Given the description of an element on the screen output the (x, y) to click on. 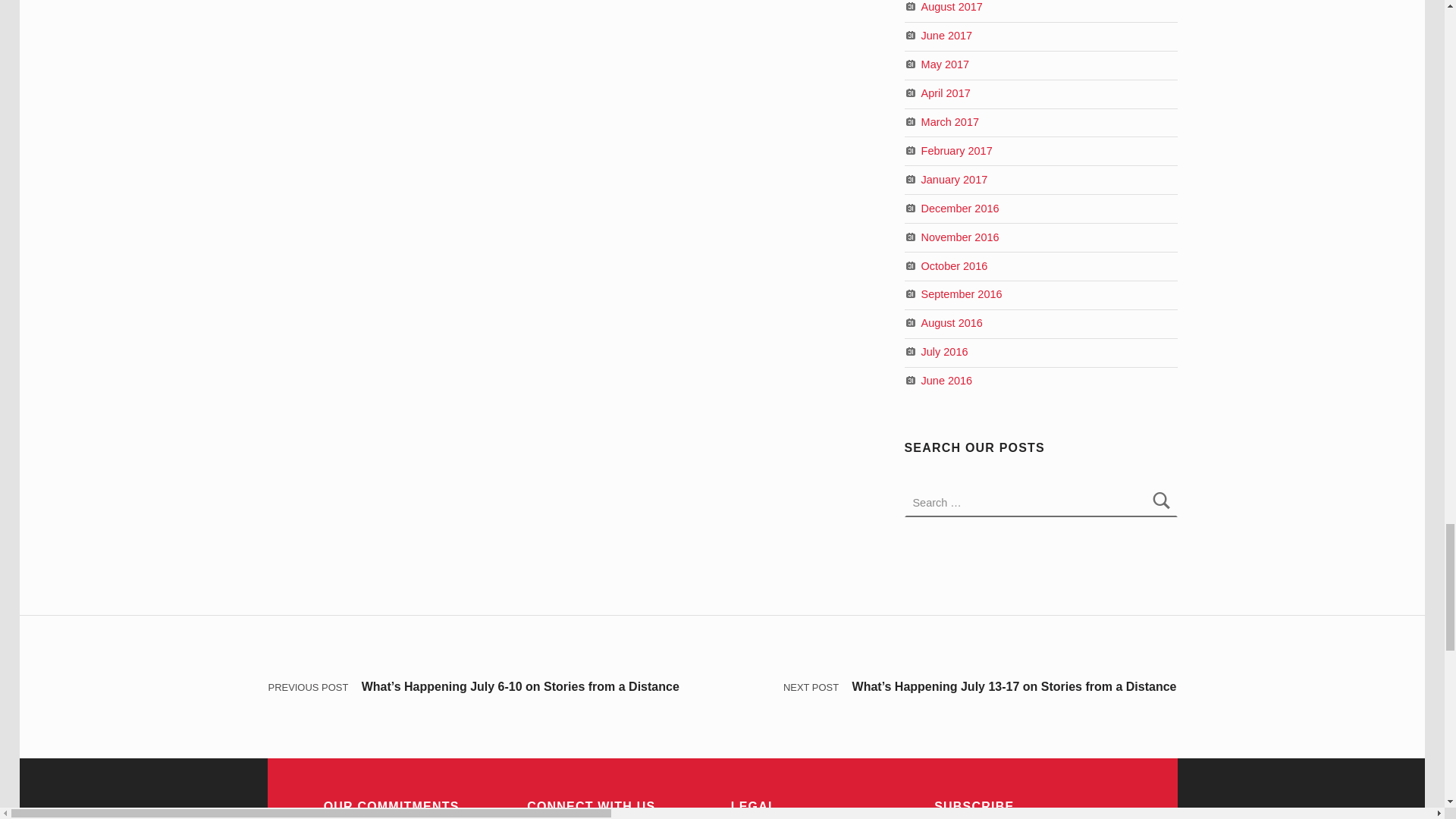
Search (1161, 502)
Search (1161, 502)
